Given the description of an element on the screen output the (x, y) to click on. 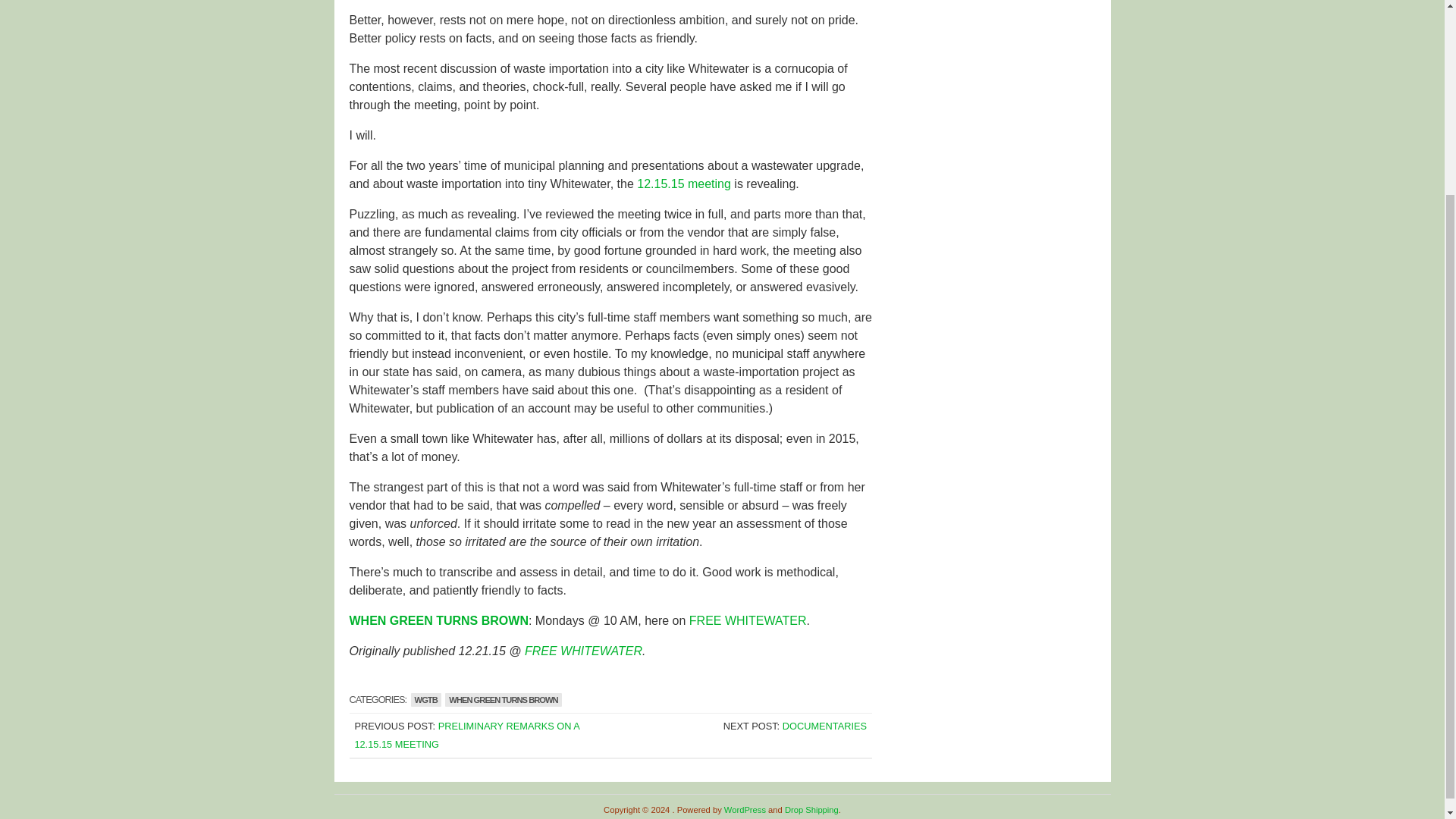
FREE WHITEWATER (583, 650)
12.15.15 meeting (683, 183)
DOCUMENTARIES (824, 726)
PRELIMINARY REMARKS ON A 12.15.15 MEETING (466, 735)
WHEN GREEN TURNS BROWN (502, 699)
WGTB (425, 699)
Drop Shipping (811, 809)
WordPress (744, 809)
WHEN GREEN TURNS BROWN (438, 620)
FREE WHITEWATER (747, 620)
